Given the description of an element on the screen output the (x, y) to click on. 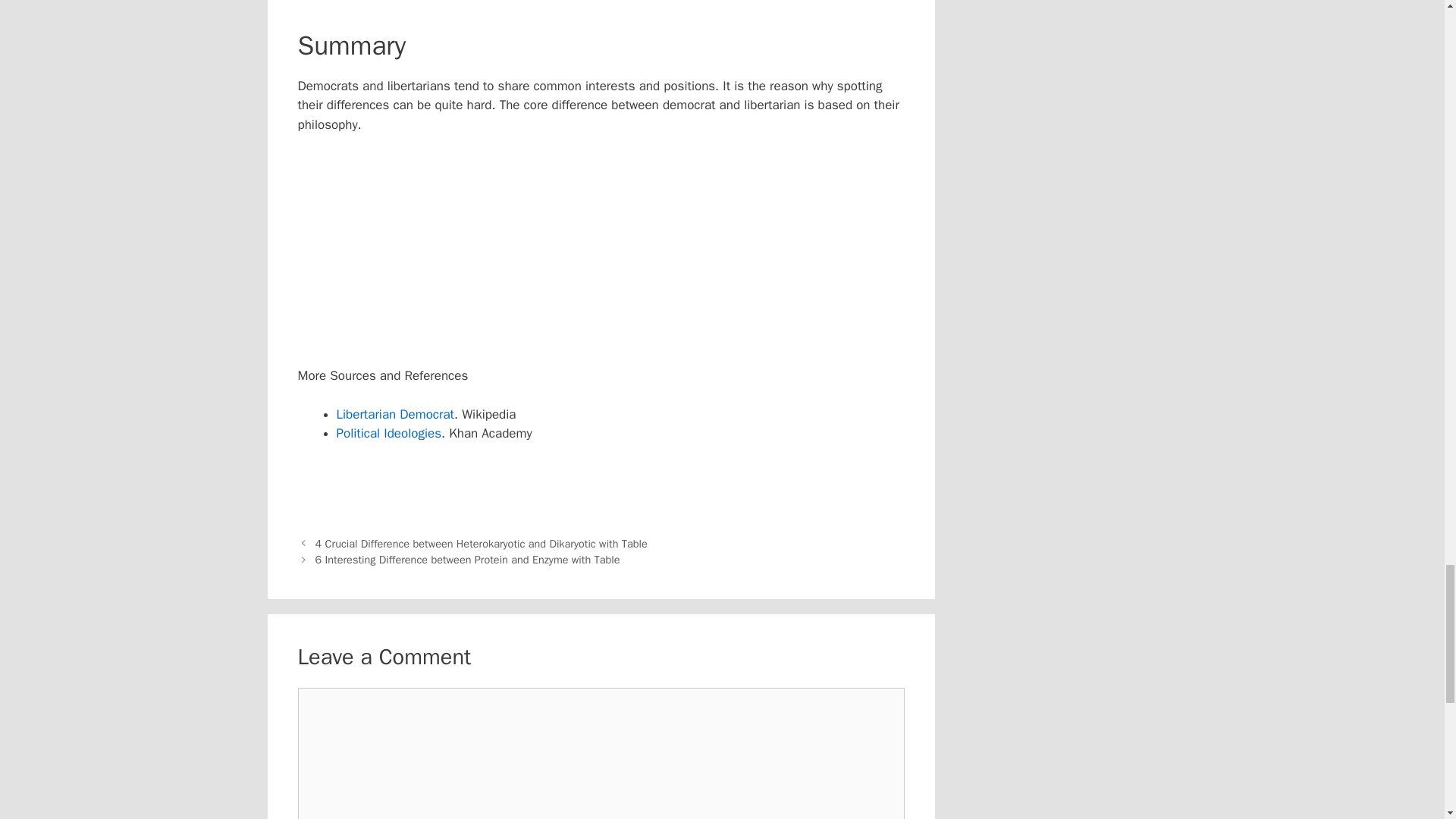
Libertarian Democrat (395, 414)
Political Ideologies (389, 433)
